Given the description of an element on the screen output the (x, y) to click on. 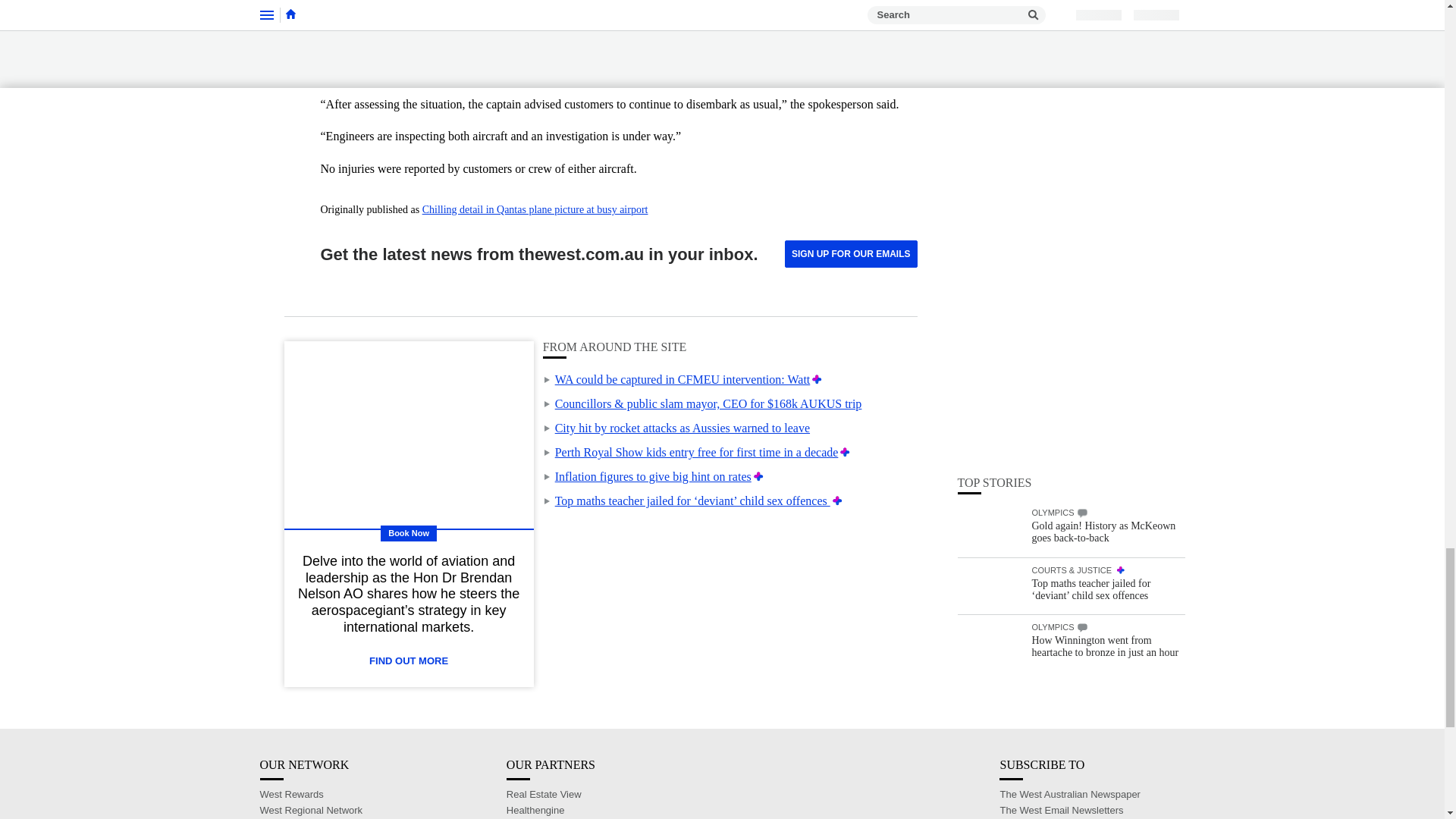
Premium (817, 379)
Premium (844, 451)
Premium (837, 500)
Premium (758, 476)
